Given the description of an element on the screen output the (x, y) to click on. 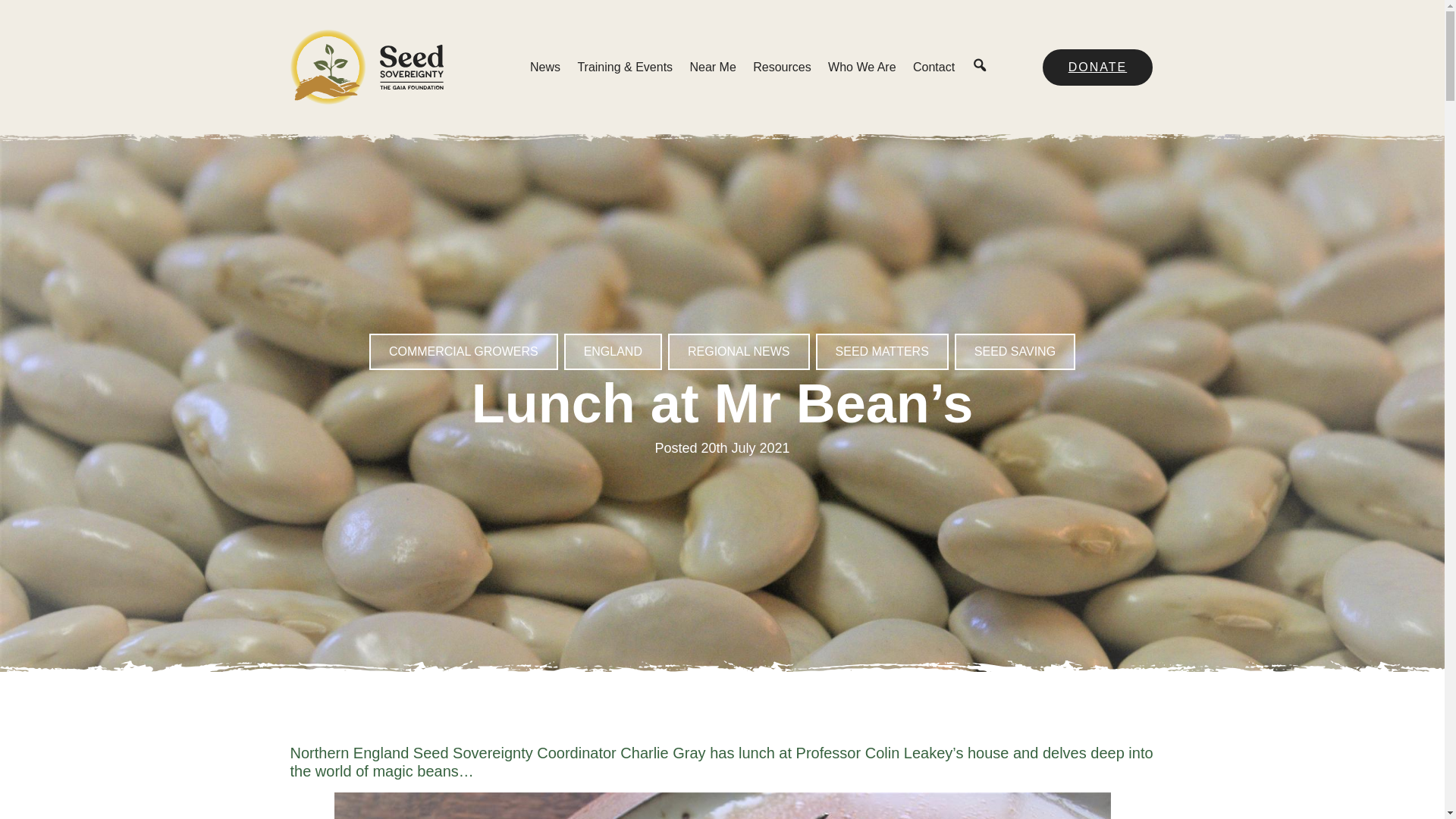
Who We Are (862, 66)
News (544, 66)
DONATE (1097, 66)
Contact (933, 66)
Search (979, 66)
Near Me (711, 66)
Resources (781, 66)
Seed Sovereignty (365, 66)
